Given the description of an element on the screen output the (x, y) to click on. 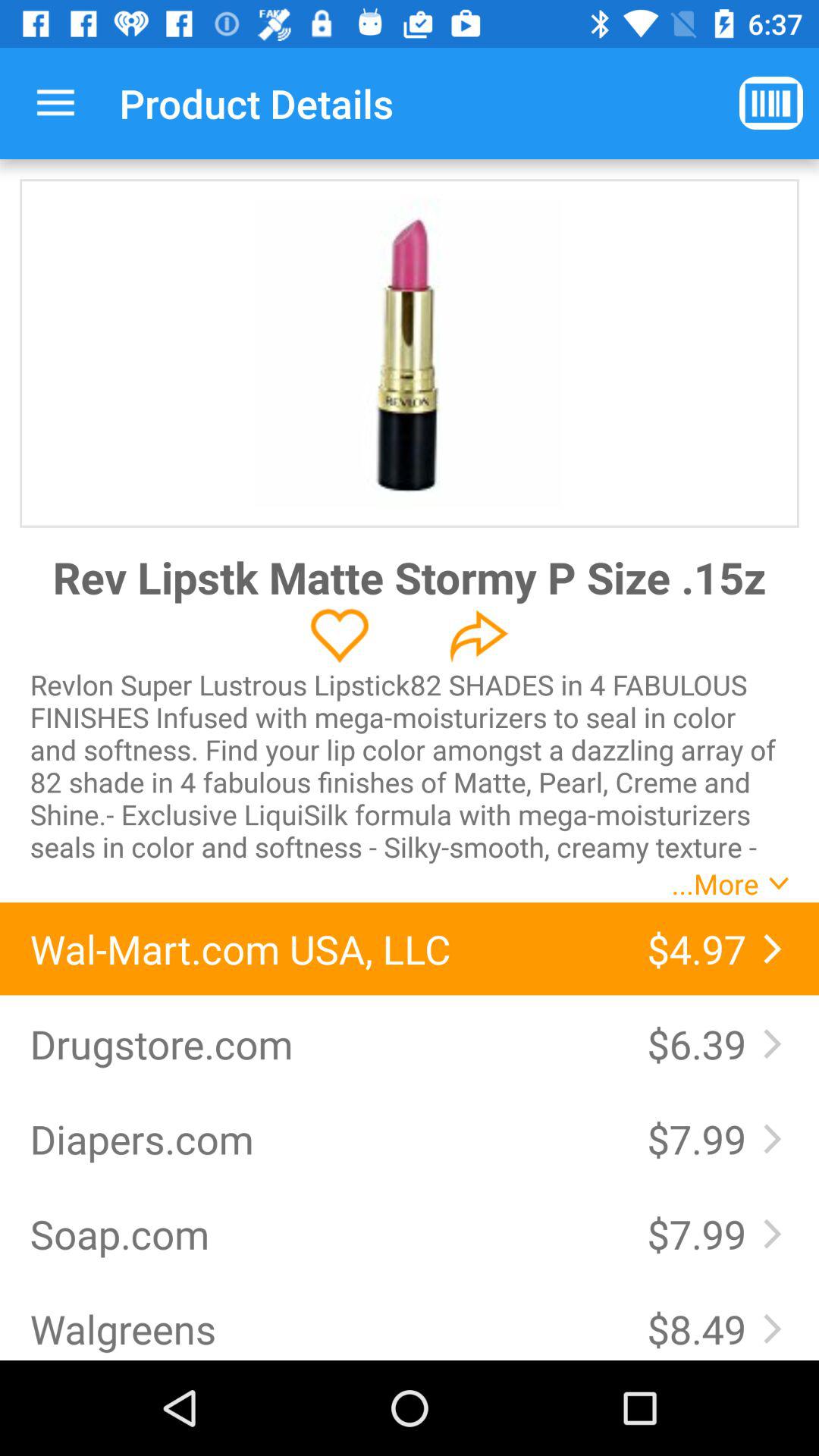
select icon next to the $6.39 (323, 1043)
